Given the description of an element on the screen output the (x, y) to click on. 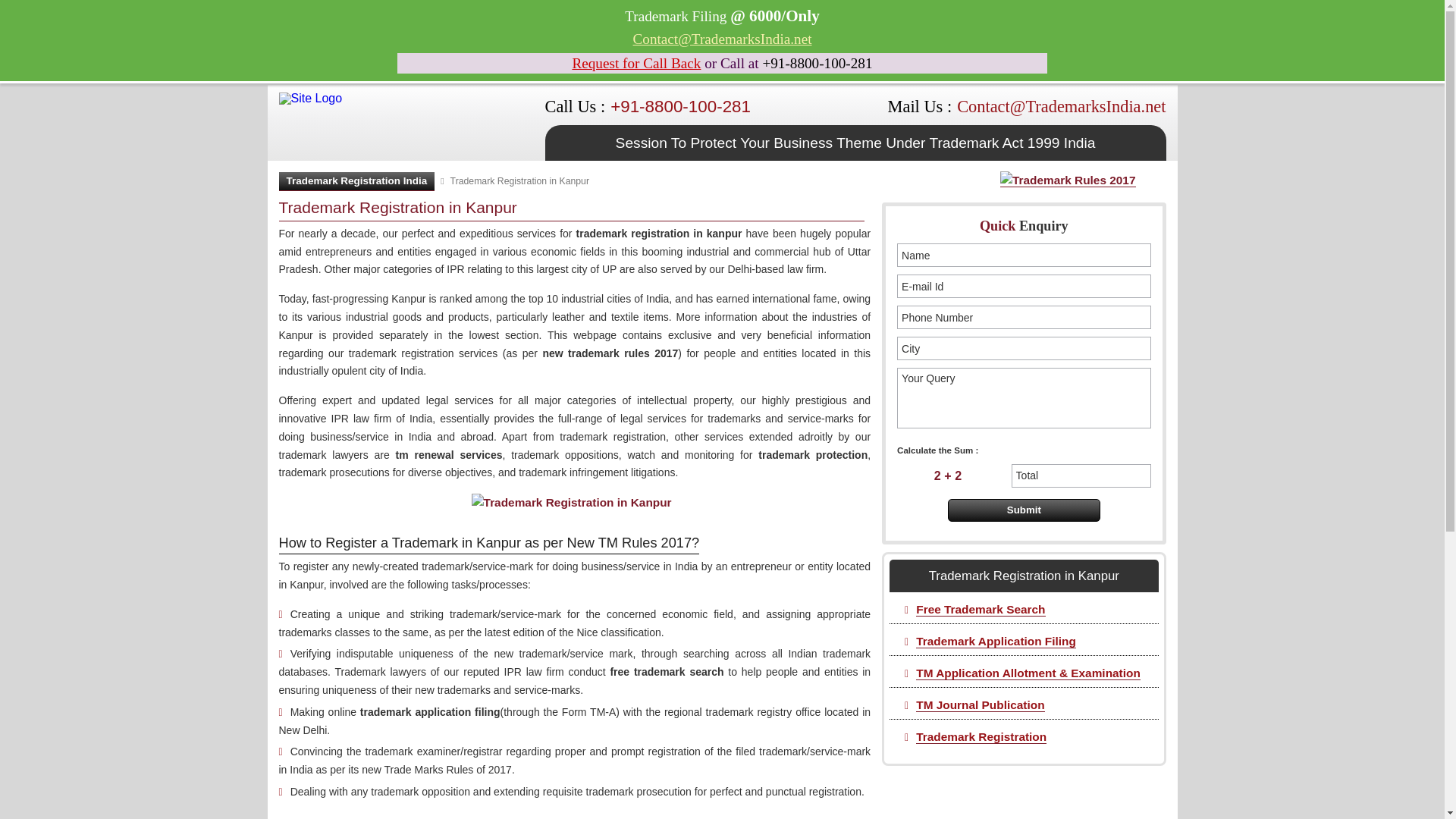
Trademark Registration India (357, 180)
Free Trademark Search (980, 609)
Total (1081, 475)
City (1023, 348)
Phone Number (1023, 317)
E-mail Id (1023, 286)
Request for Call Back (636, 63)
Name (1023, 254)
Trademark Registration (980, 736)
TM Journal Publication (979, 704)
Submit (1023, 509)
Trademark Application Filing (995, 641)
